Given the description of an element on the screen output the (x, y) to click on. 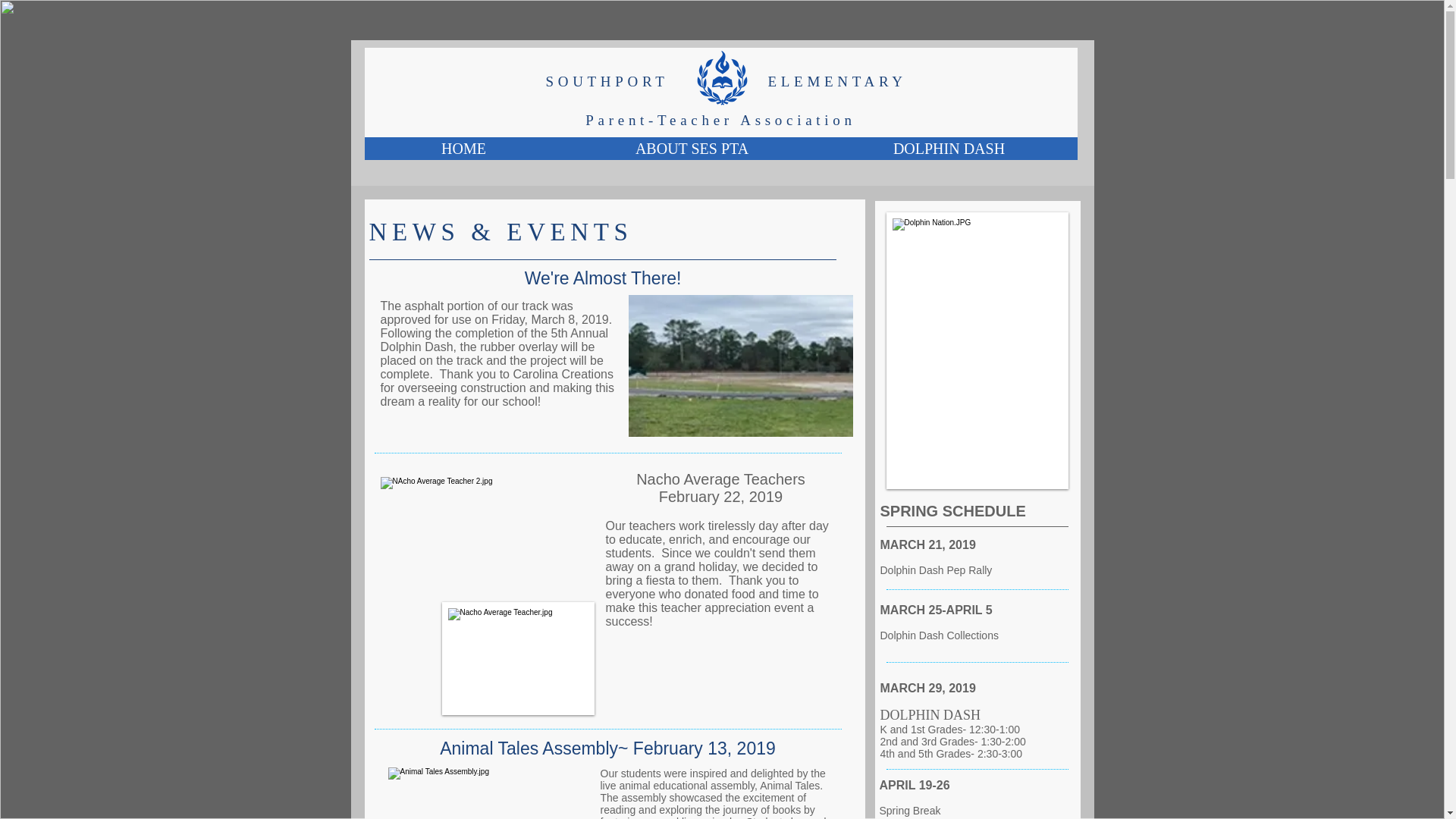
HOME (463, 148)
DOLPHIN DASH (949, 148)
ABOUT SES PTA (690, 148)
